Given the description of an element on the screen output the (x, y) to click on. 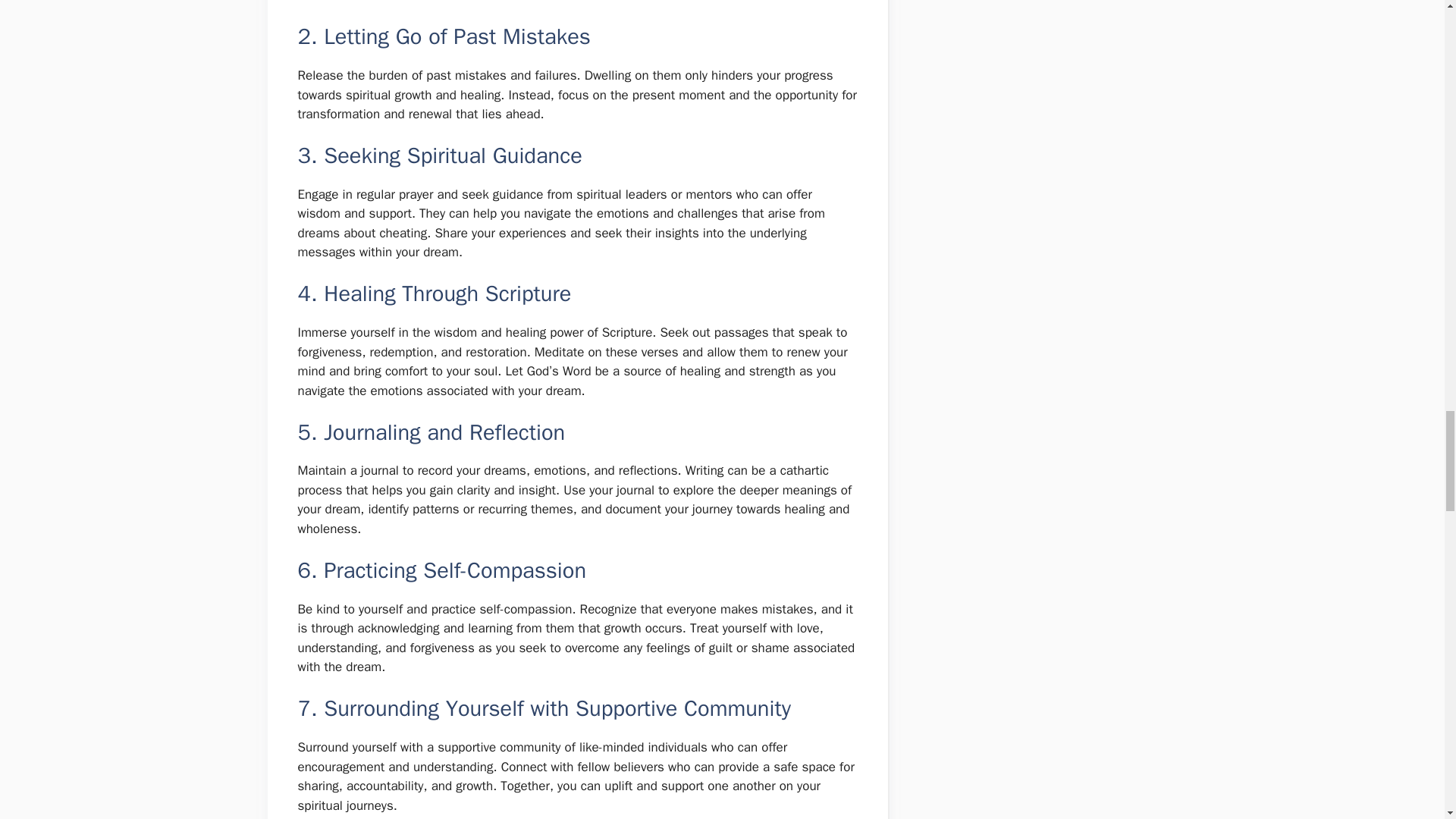
See Also:  Biblical Meaning Of Breasts In Dreams (577, 6)
